Given the description of an element on the screen output the (x, y) to click on. 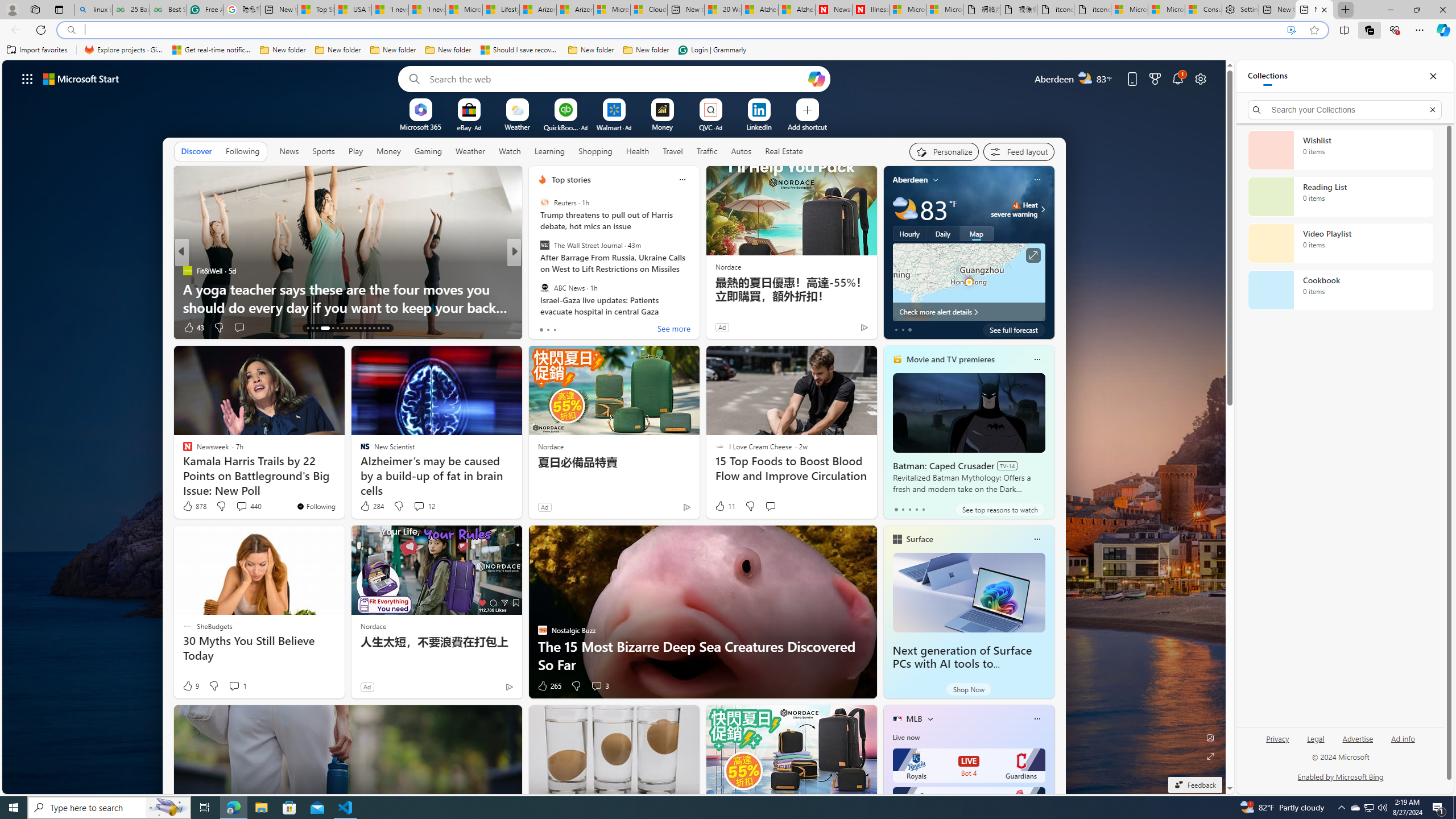
Surface (919, 538)
9 Like (189, 685)
Map (975, 233)
tab-1 (903, 509)
Autos (740, 151)
Traffic (706, 151)
View comments 3 Comment (598, 685)
MSNBC (537, 288)
